Given the description of an element on the screen output the (x, y) to click on. 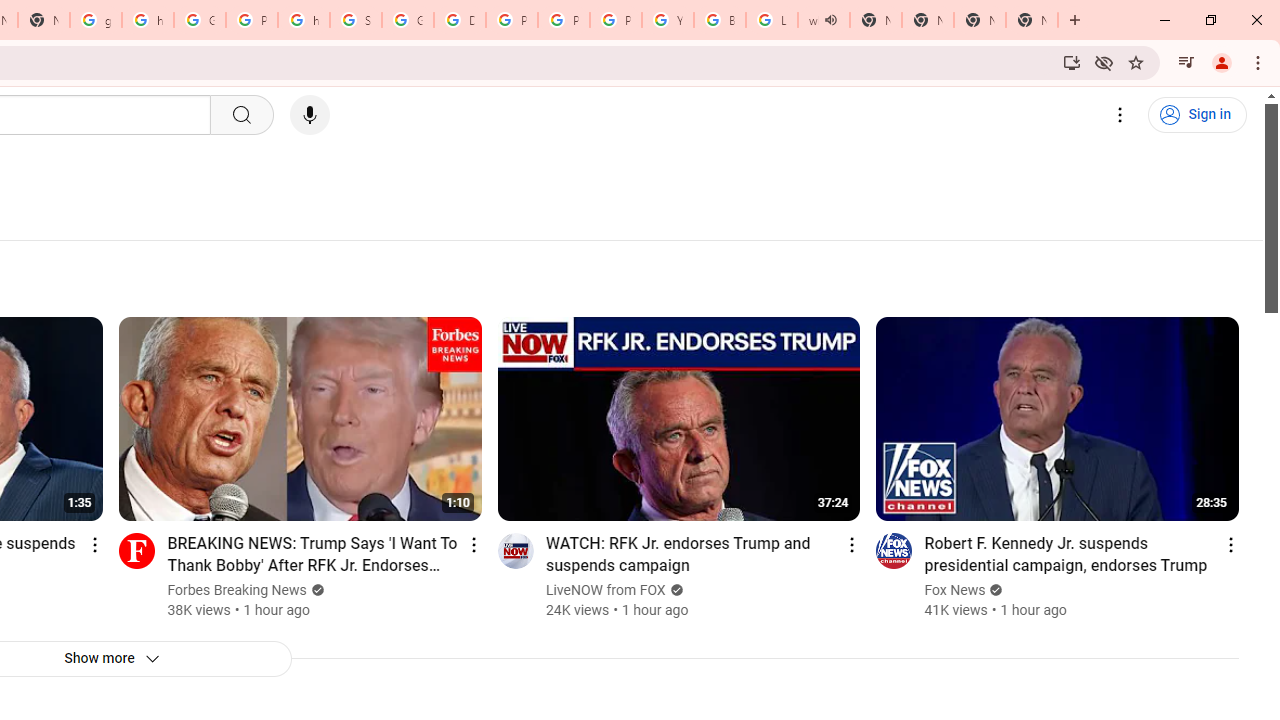
Privacy Help Center - Policies Help (563, 20)
https://scholar.google.com/ (147, 20)
YouTube (667, 20)
Sign in - Google Accounts (355, 20)
